Given the description of an element on the screen output the (x, y) to click on. 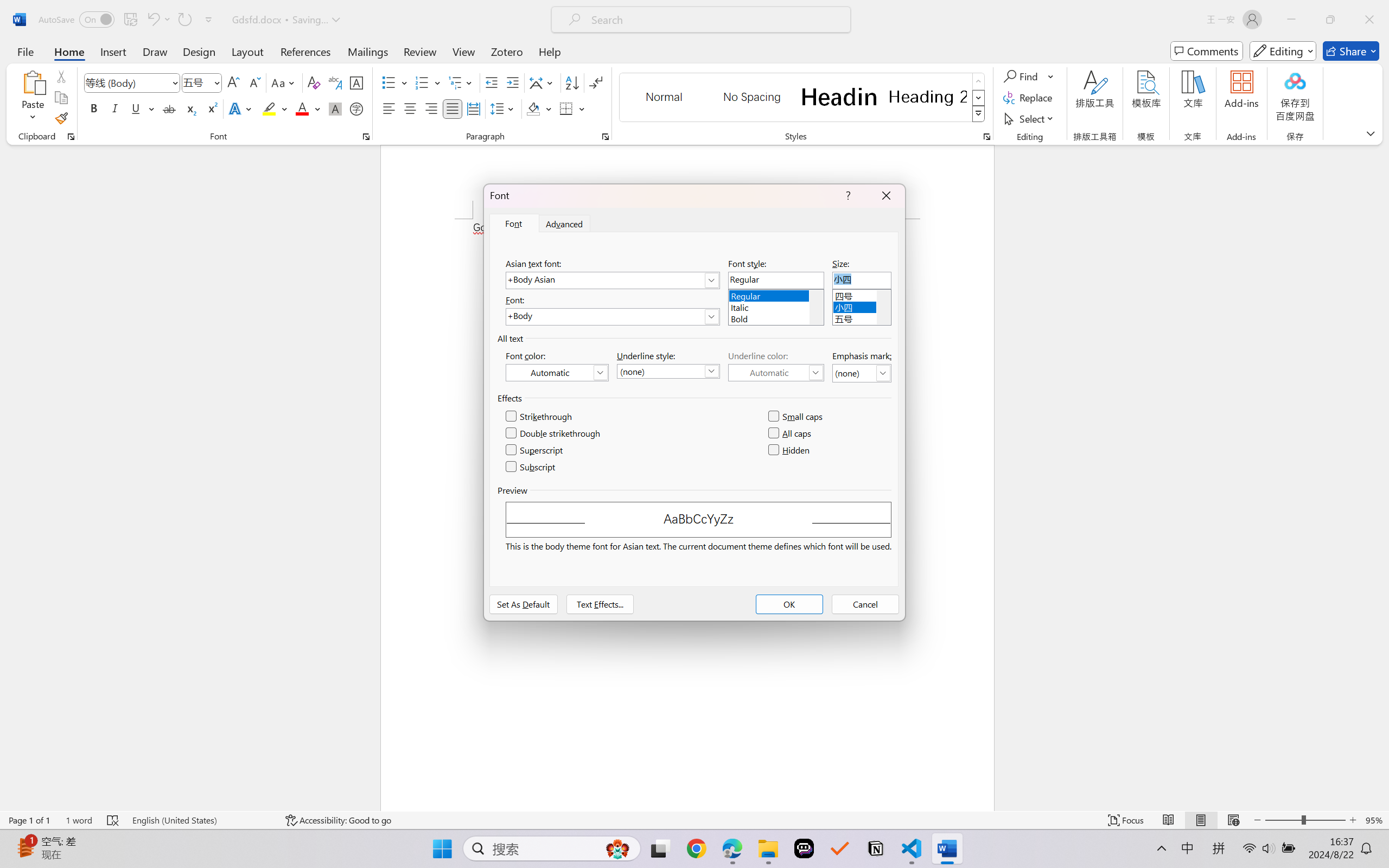
AutomationID: 1797 (883, 306)
Undo Style (152, 19)
AutomationID: QuickStylesGallery (802, 97)
Class: MsoCommandBar (694, 819)
Row up (978, 81)
Asian Layout (542, 82)
Emphasis mark: (861, 372)
